Given the description of an element on the screen output the (x, y) to click on. 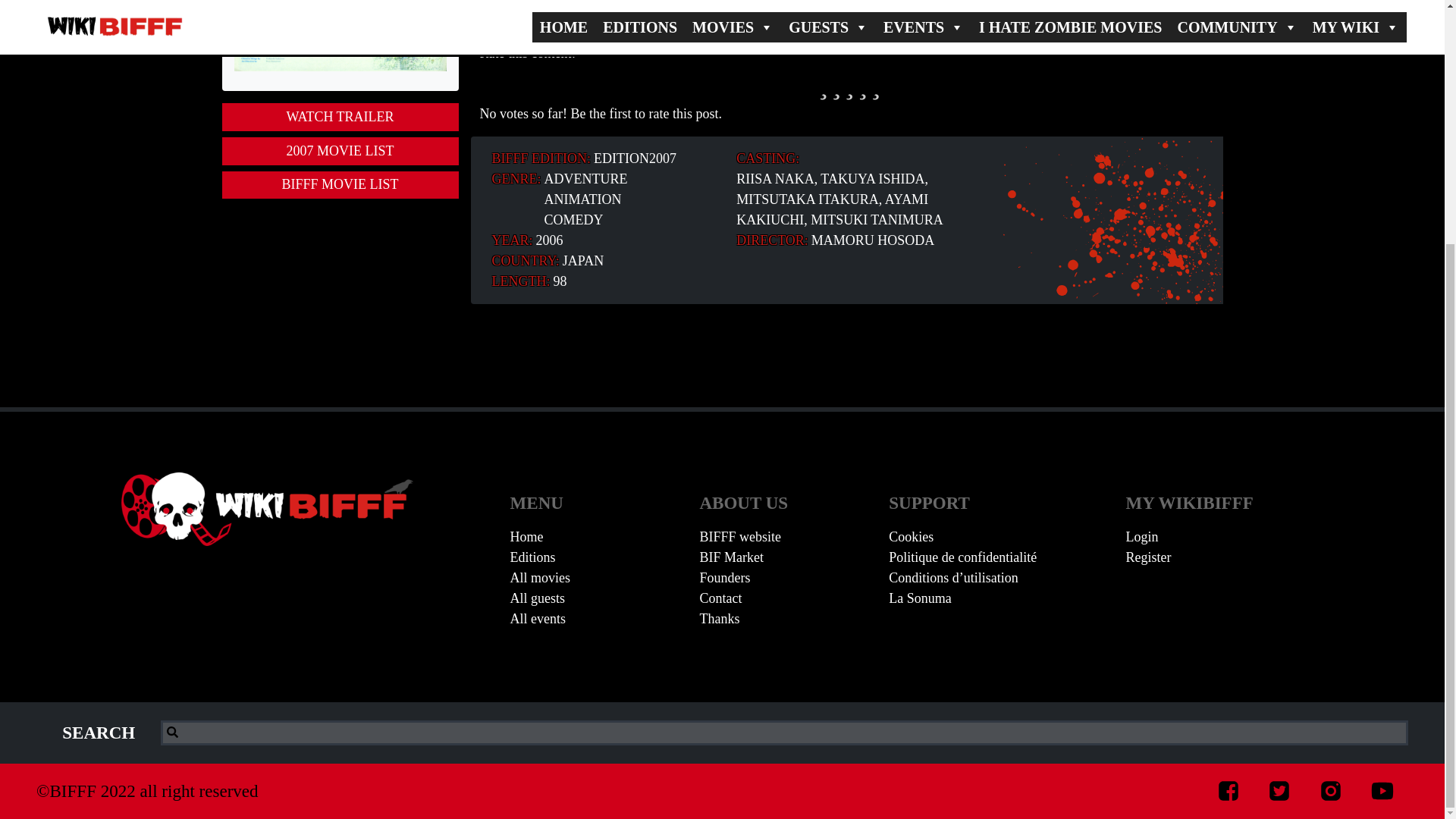
WATCH TRAILER (339, 117)
ADVENTURE (585, 178)
EDITION2007 (635, 158)
ANIMATION (582, 199)
BIFFF MOVIE LIST (339, 185)
2007 MOVIE LIST (339, 151)
